Given the description of an element on the screen output the (x, y) to click on. 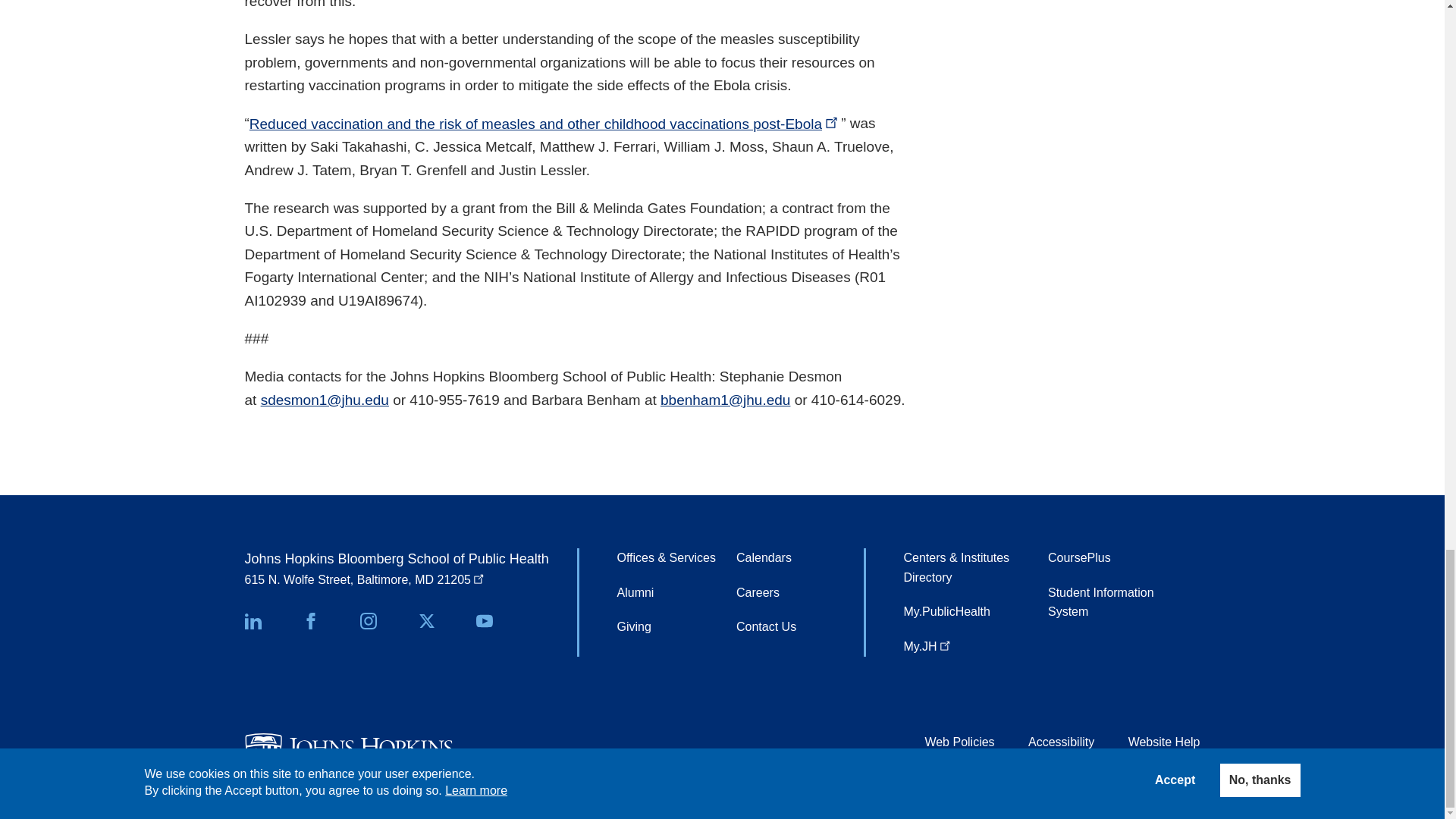
Job Opportunities and Career Resources (757, 592)
Stephanie Desmon (324, 400)
Barbara Benham (725, 400)
